Given the description of an element on the screen output the (x, y) to click on. 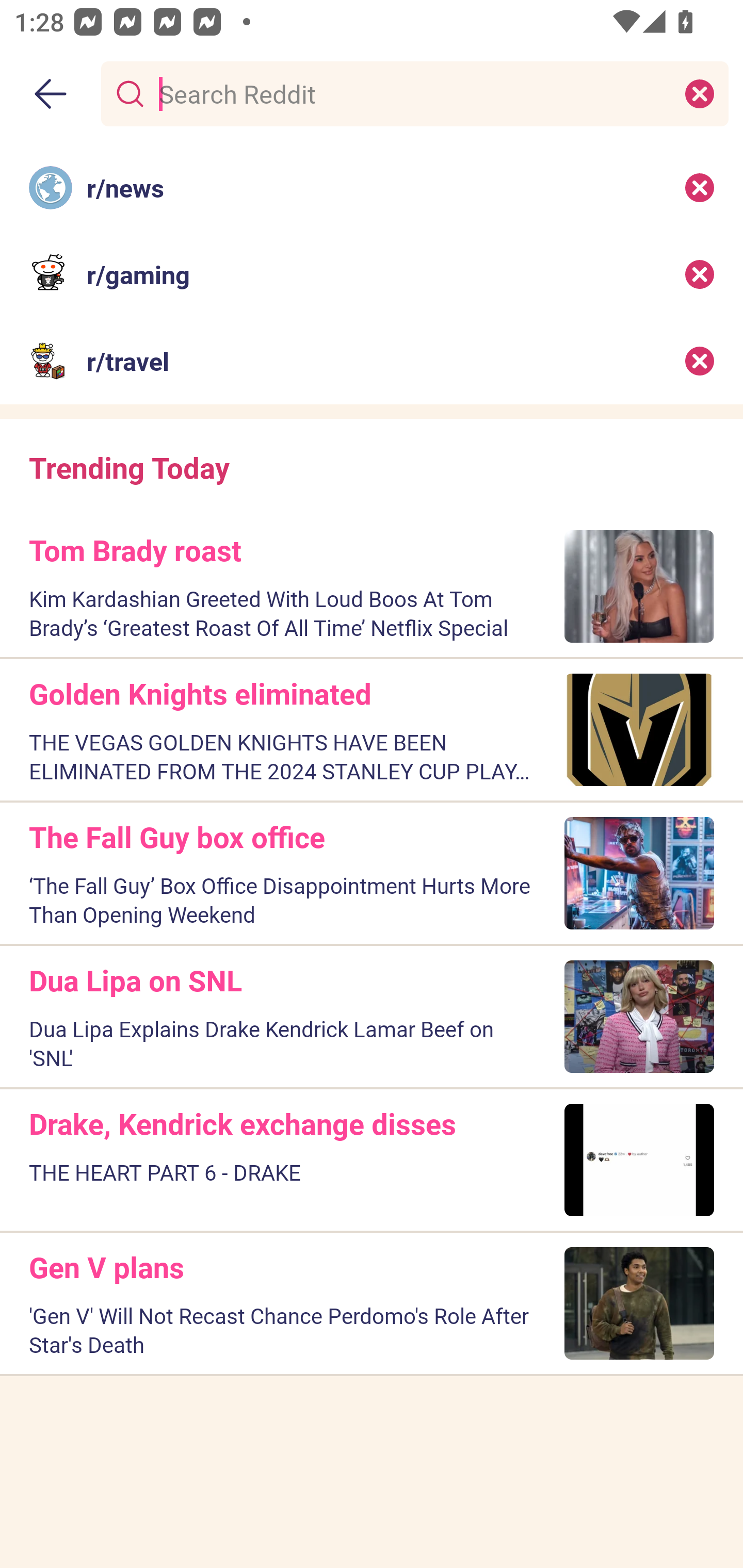
Back (50, 93)
Search Reddit (410, 93)
Clear search (699, 93)
r/news Recent search: r/news Remove (371, 187)
Remove (699, 187)
r/gaming Recent search: r/gaming Remove (371, 274)
Remove (699, 274)
r/travel Recent search: r/travel Remove (371, 361)
Remove (699, 361)
